Given the description of an element on the screen output the (x, y) to click on. 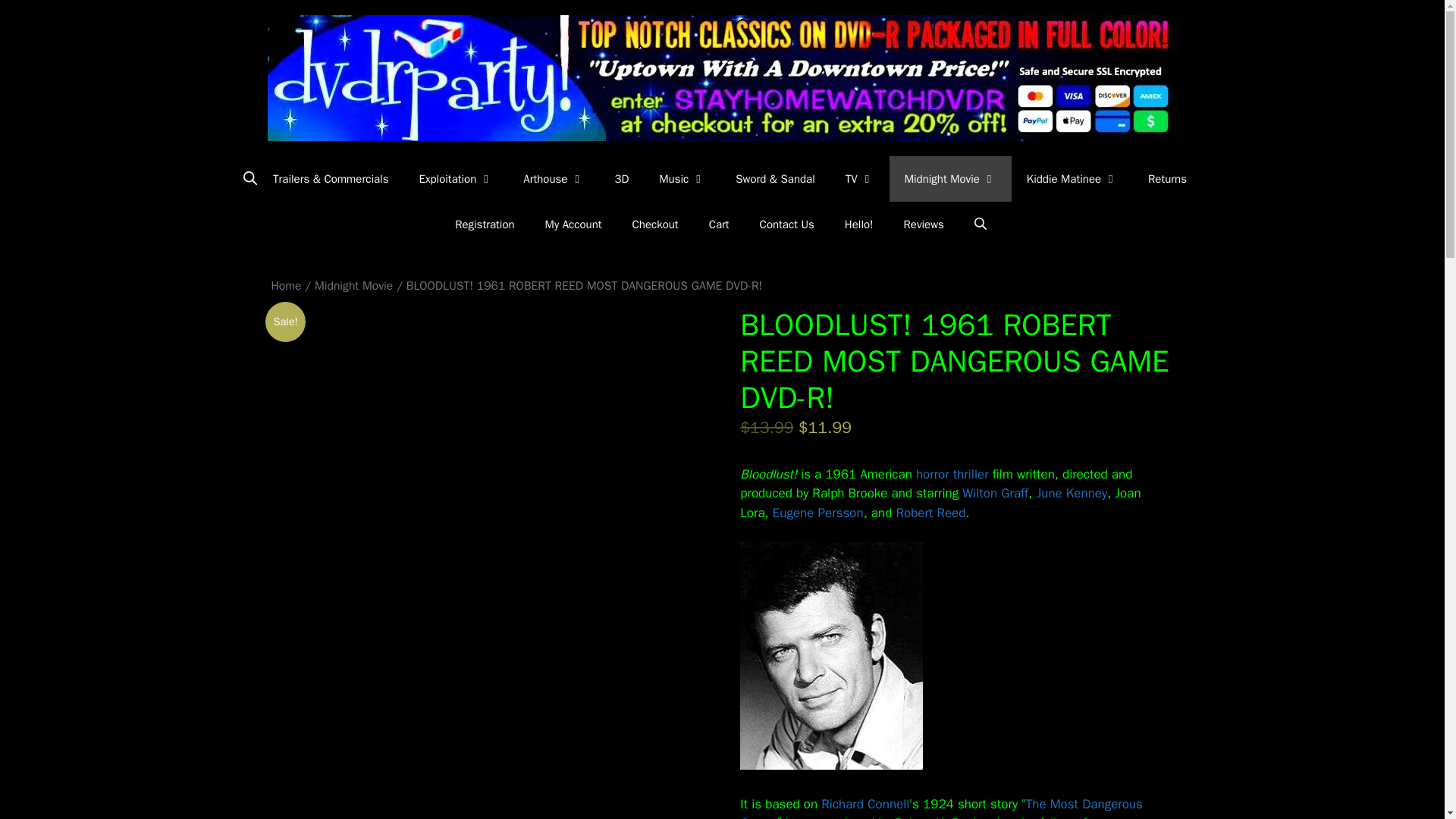
Home (285, 285)
Reviews (923, 224)
Horror thriller (951, 474)
Robert Reed (930, 512)
Registration (484, 224)
Arthouse (553, 178)
Music (681, 178)
June Kenney (1070, 493)
Hello! (858, 224)
Midnight Movie (353, 285)
